Given the description of an element on the screen output the (x, y) to click on. 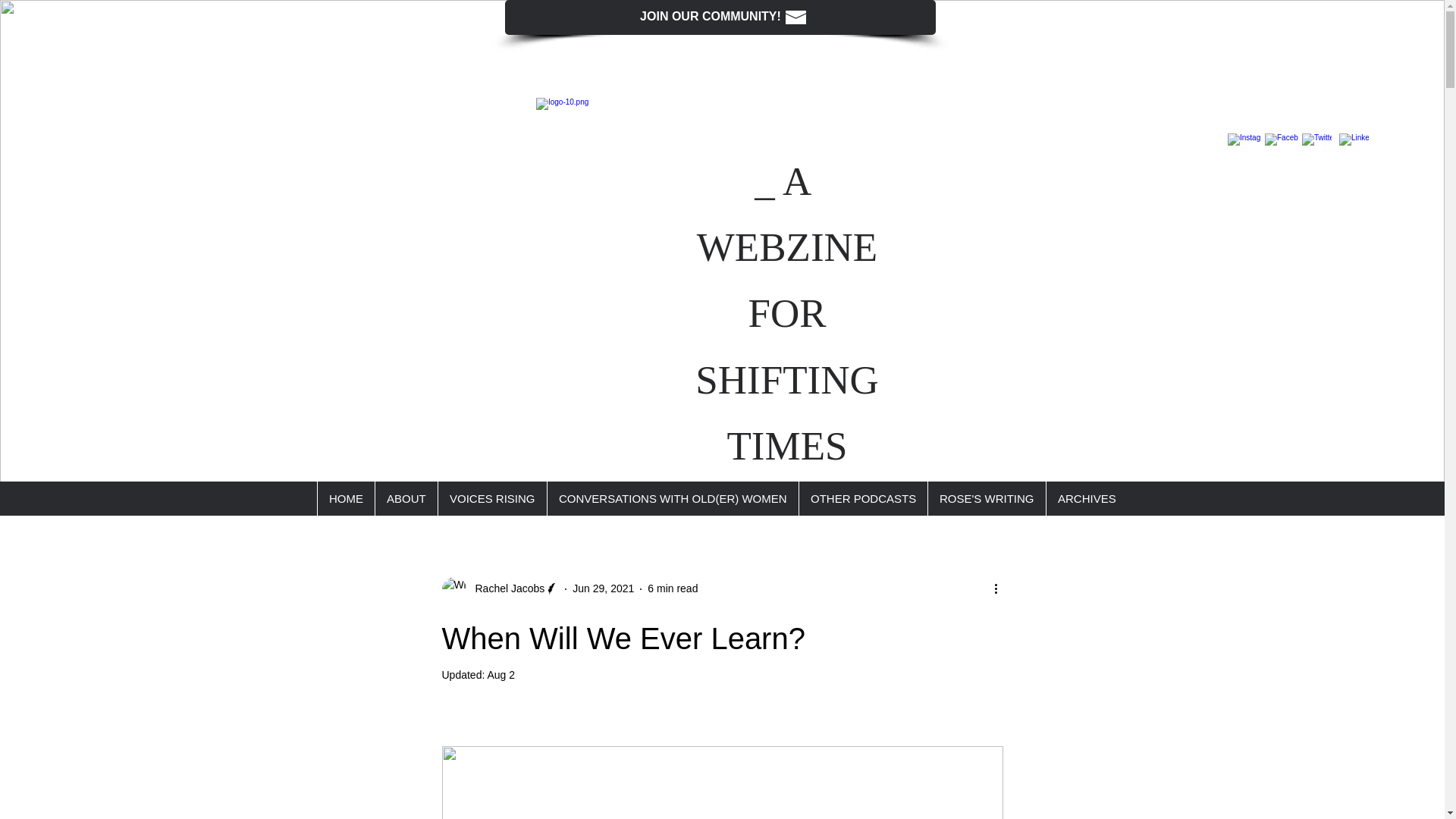
Aug 2 (500, 674)
Rachel Jacobs (504, 588)
ABOUT (406, 498)
ROSE'S WRITING (986, 498)
HOME (345, 498)
Rachel Jacobs (500, 589)
VOICES RISING (492, 498)
Jun 29, 2021 (602, 588)
ARCHIVES (1085, 498)
OTHER PODCASTS (862, 498)
